Given the description of an element on the screen output the (x, y) to click on. 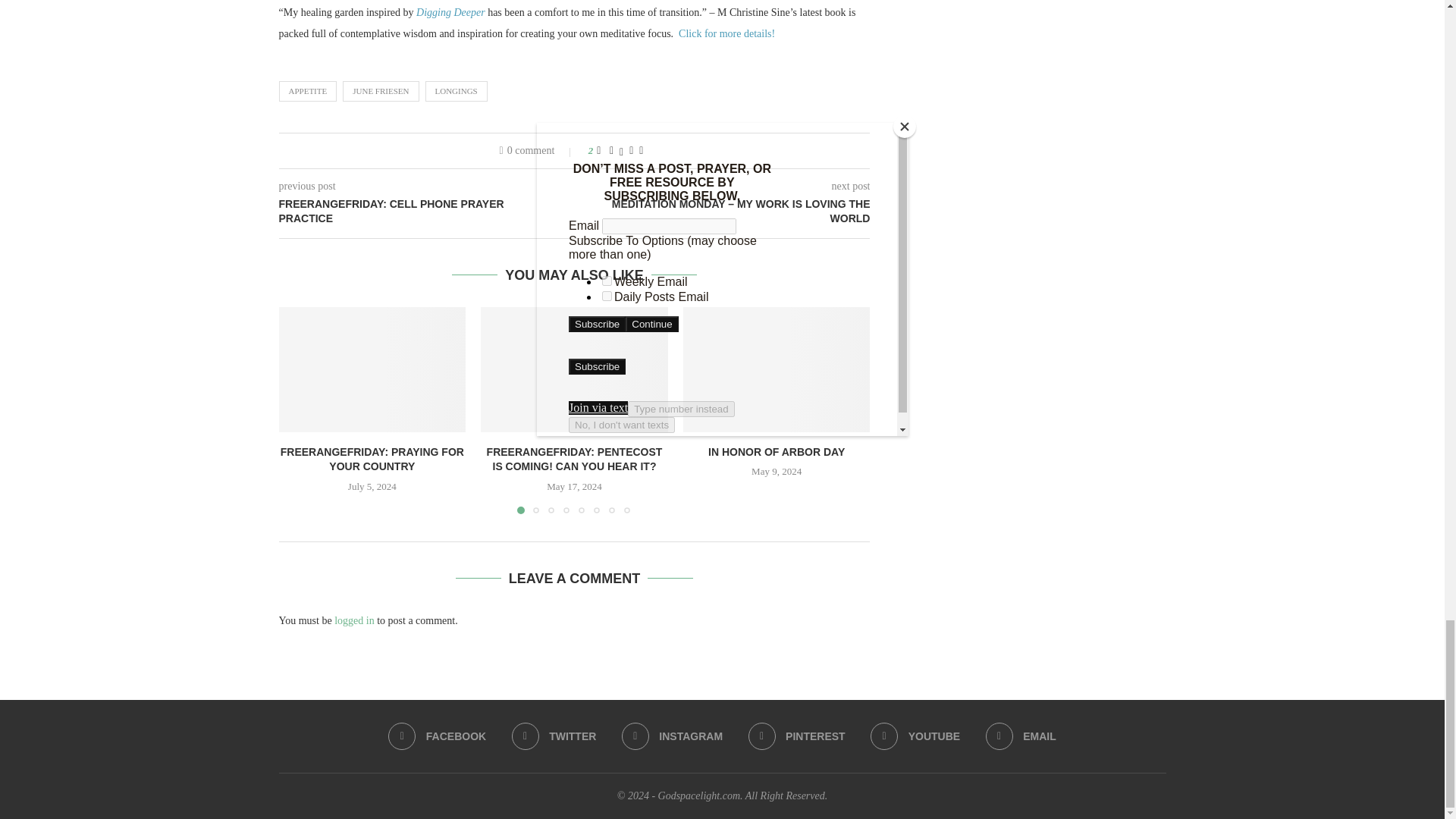
FreerangeFriday: Pentecost is Coming! Can you Hear it? (574, 369)
FreerangeFriday: Praying for your Country (372, 369)
In Honor of Arbor Day (776, 369)
